Given the description of an element on the screen output the (x, y) to click on. 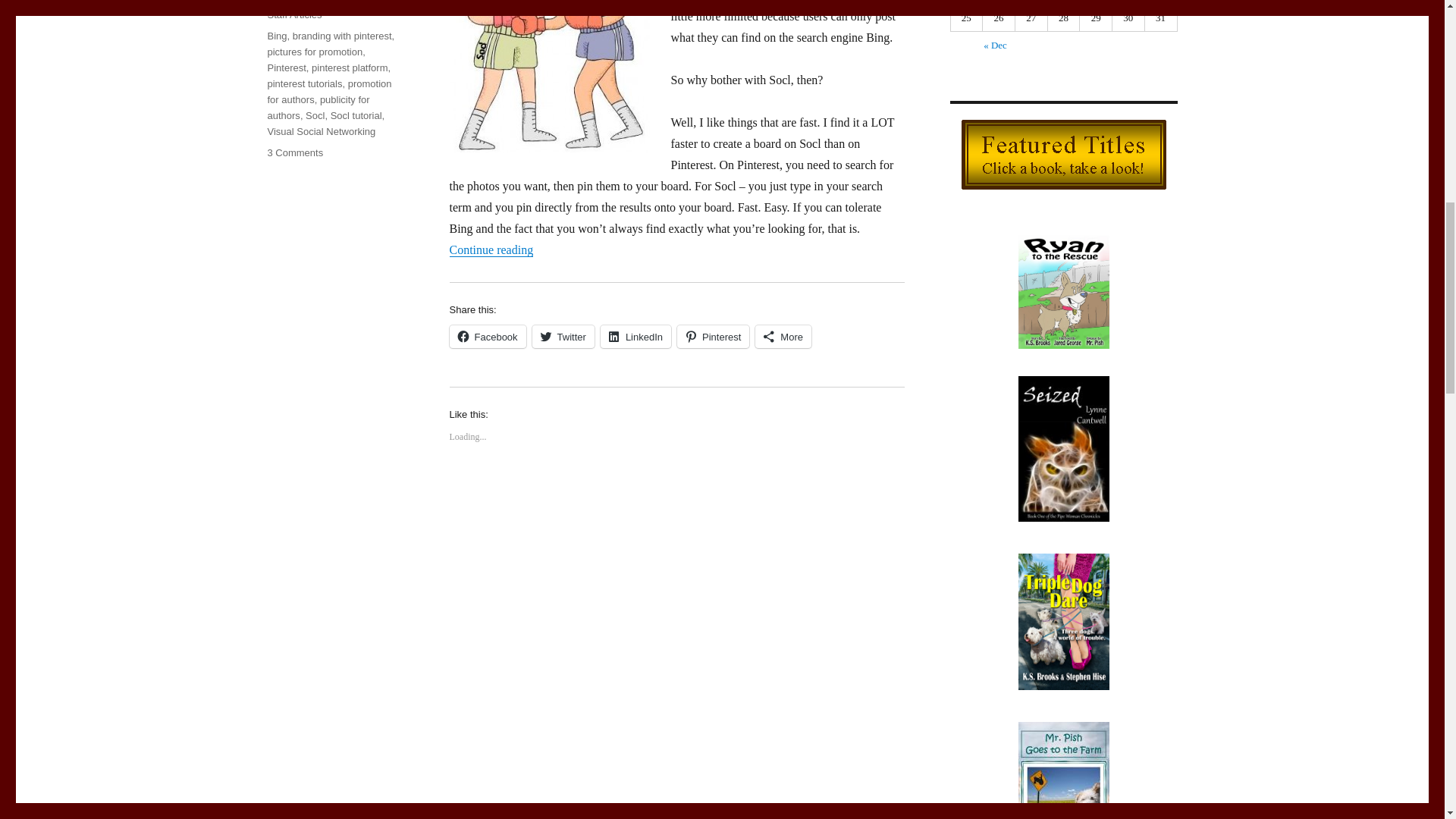
Click to share on Twitter (563, 336)
Click to share on LinkedIn (635, 336)
pinterest versus socl boxers (548, 76)
Click to share on Pinterest (713, 336)
Click to share on Facebook (486, 336)
